Given the description of an element on the screen output the (x, y) to click on. 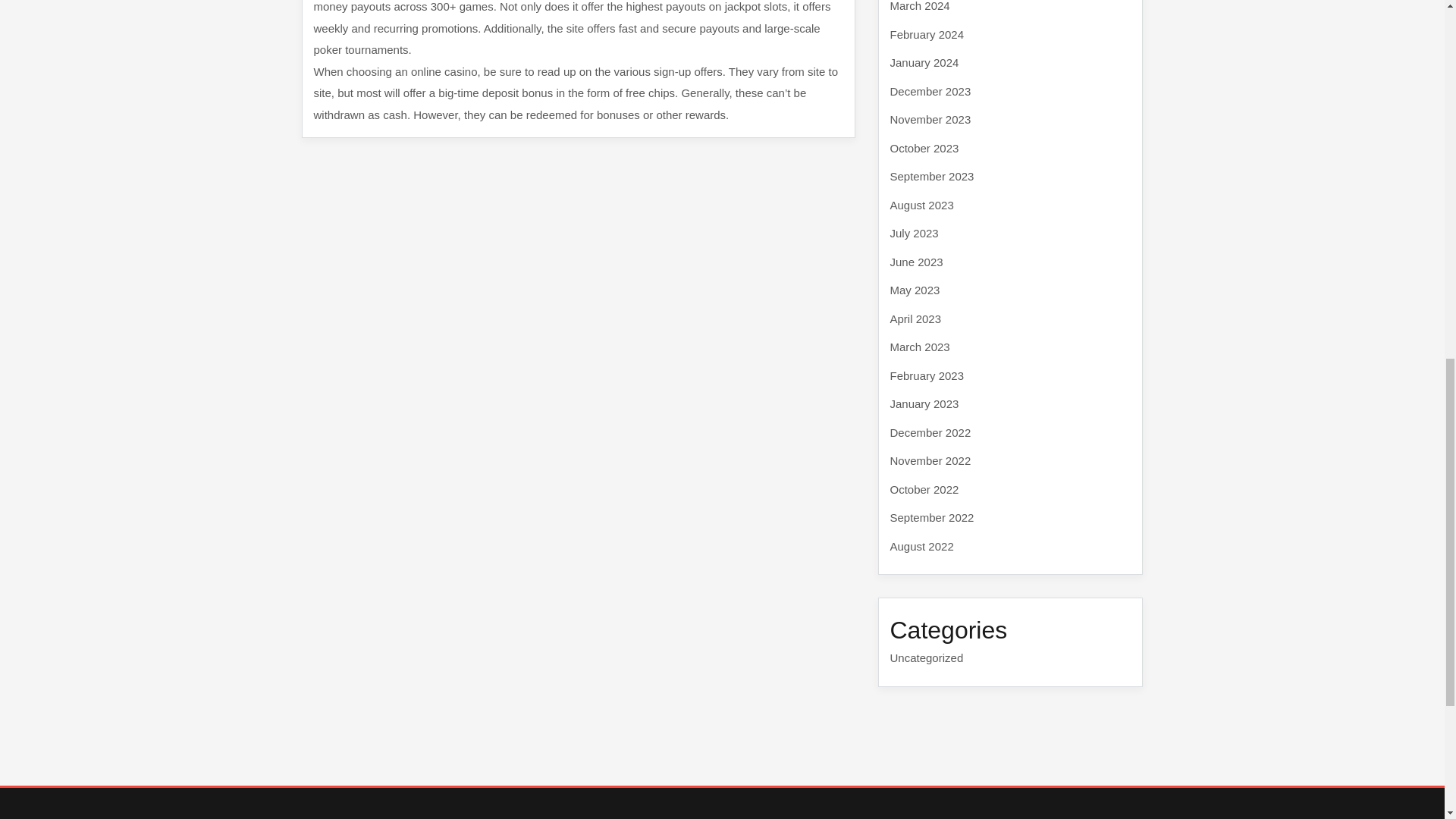
March 2024 (919, 6)
July 2023 (914, 232)
December 2022 (930, 431)
September 2023 (931, 175)
May 2023 (914, 289)
January 2024 (924, 62)
March 2023 (919, 346)
April 2023 (915, 318)
October 2023 (924, 146)
December 2023 (930, 91)
June 2023 (916, 260)
November 2022 (930, 460)
January 2023 (924, 403)
November 2023 (930, 119)
February 2023 (926, 374)
